Given the description of an element on the screen output the (x, y) to click on. 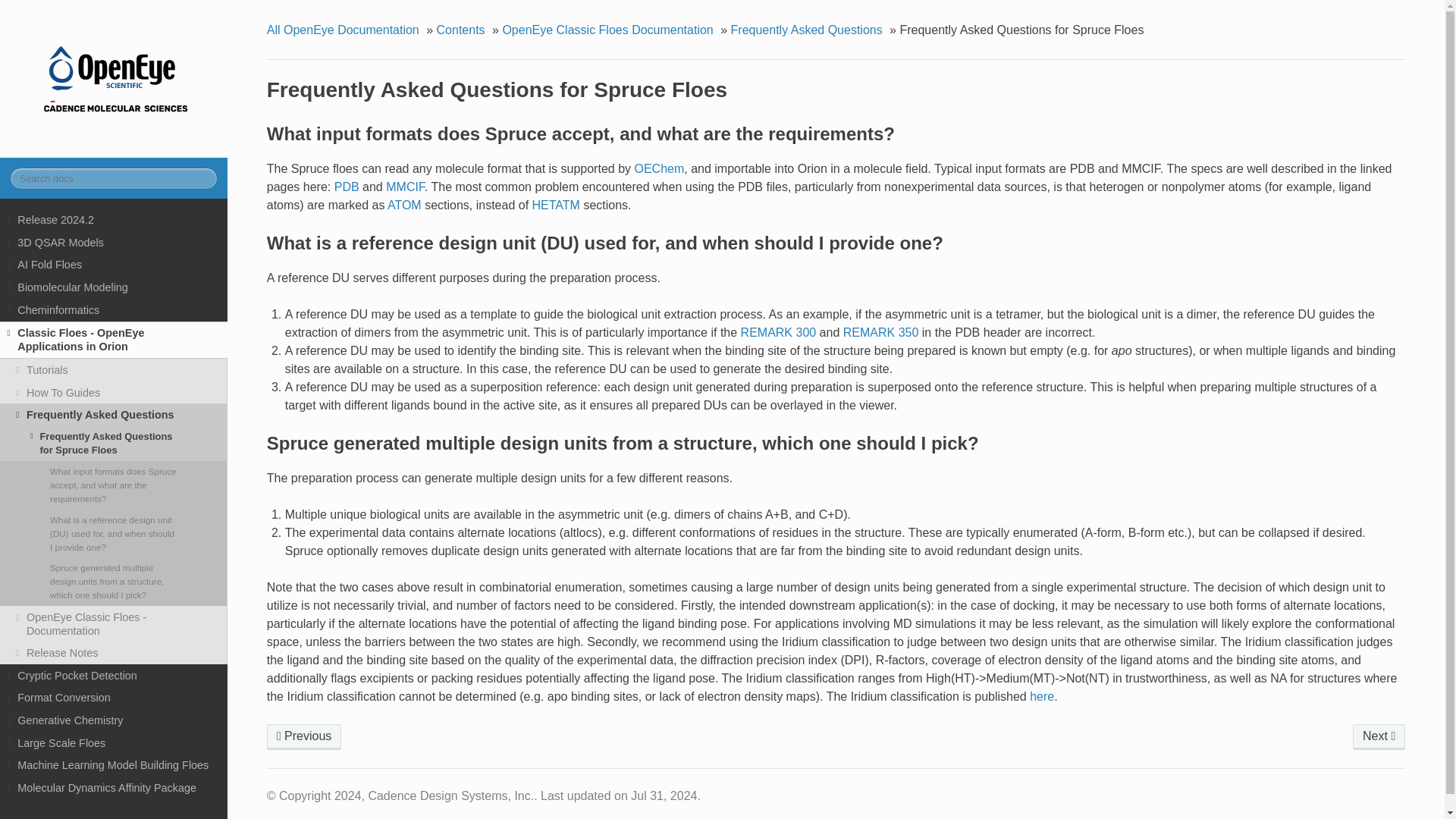
3D QSAR Models (113, 241)
Release 2024.2 (113, 219)
Frequently Asked Questions (304, 736)
OpenEye Classic Floes - Documentation (1378, 736)
